Given the description of an element on the screen output the (x, y) to click on. 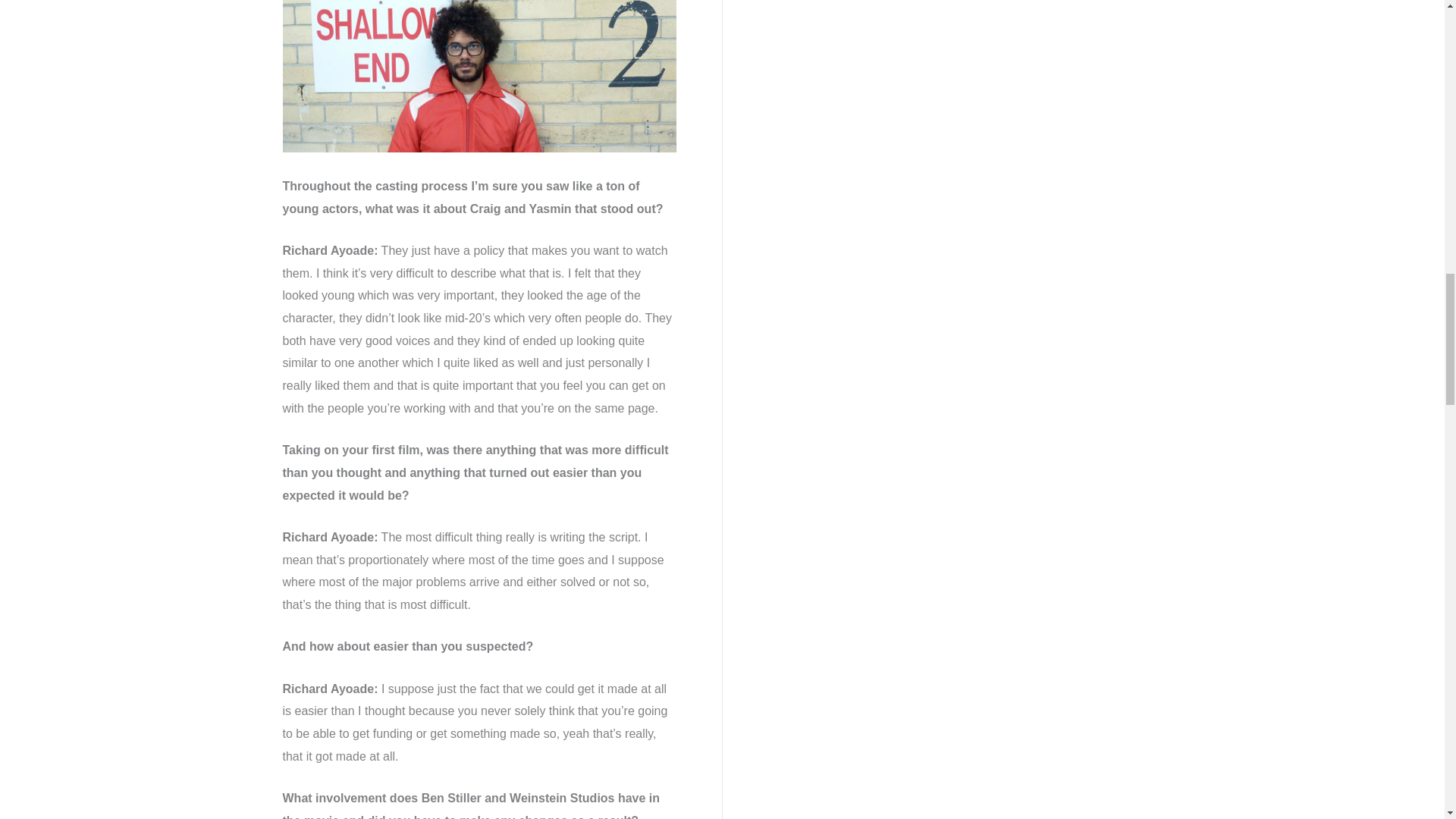
richard-ayoade-on-the-set-of-submarine (479, 76)
